Given the description of an element on the screen output the (x, y) to click on. 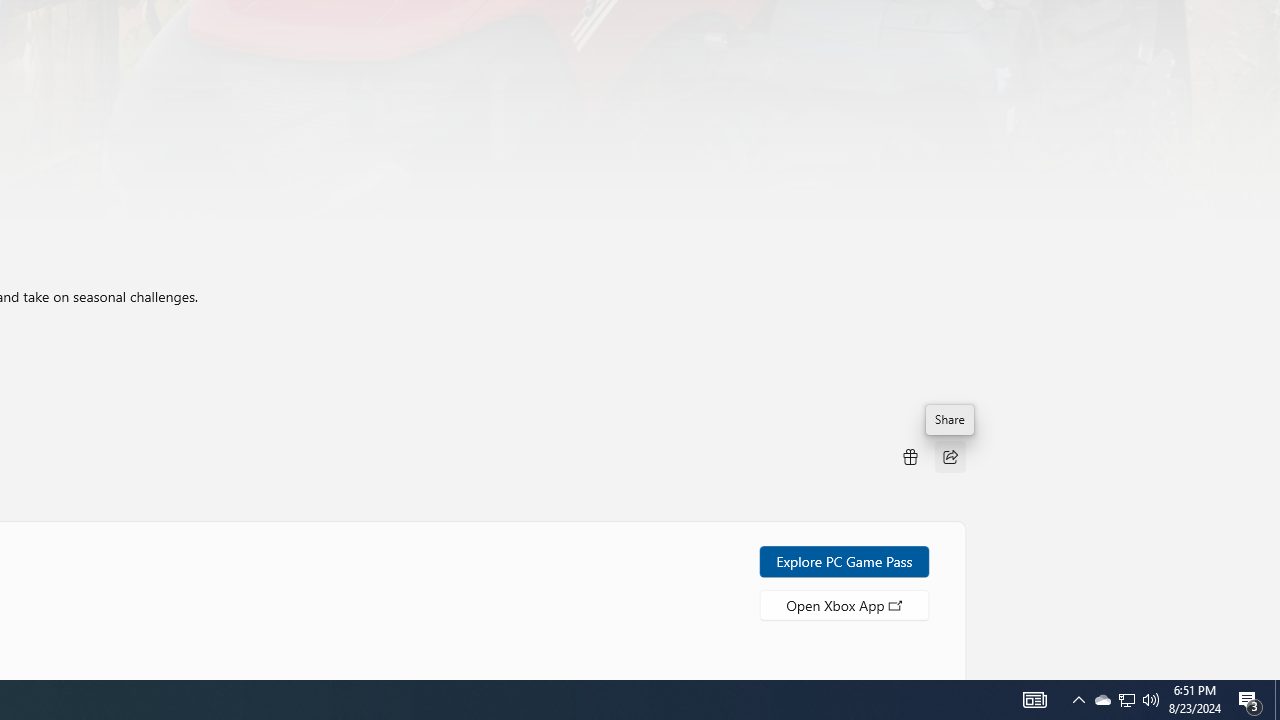
Share (950, 456)
Explore PC Game Pass (844, 560)
Open Xbox App (844, 603)
Buy as gift (909, 456)
